Given the description of an element on the screen output the (x, y) to click on. 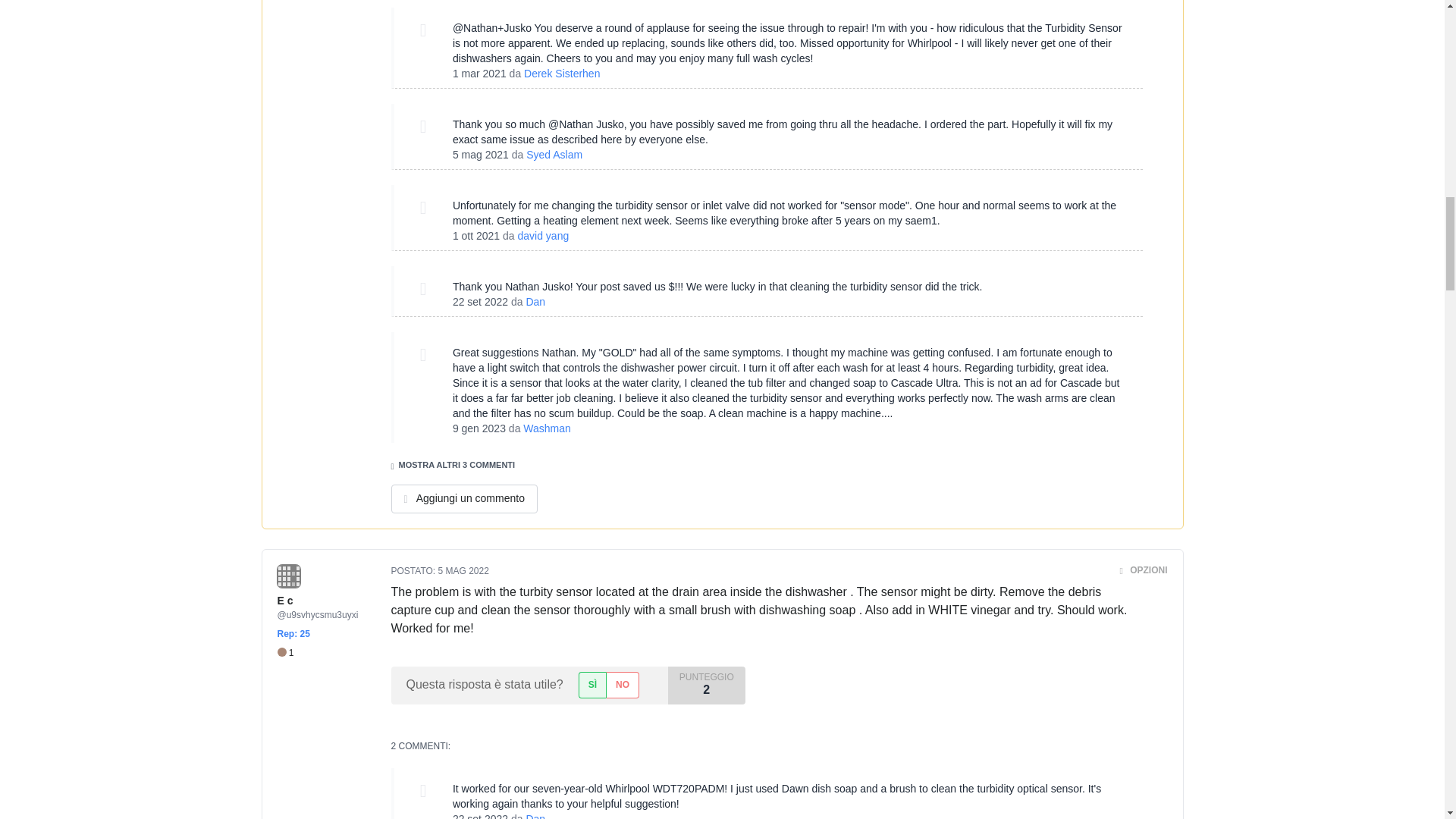
Thu, 22 Sep 2022 05:43:10 -0700 (480, 301)
Wed, 05 May 2021 09:36:55 -0700 (480, 154)
Thu, 22 Sep 2022 05:47:55 -0700 (480, 816)
Mon, 09 Jan 2023 07:11:52 -0700 (478, 428)
Fri, 01 Oct 2021 08:21:35 -0700 (475, 235)
Thu, 05 May 2022 18:42:38 -0700 (463, 570)
Mon, 01 Mar 2021 12:32:03 -0700 (479, 73)
1 Bronzo distintivi (286, 653)
